Given the description of an element on the screen output the (x, y) to click on. 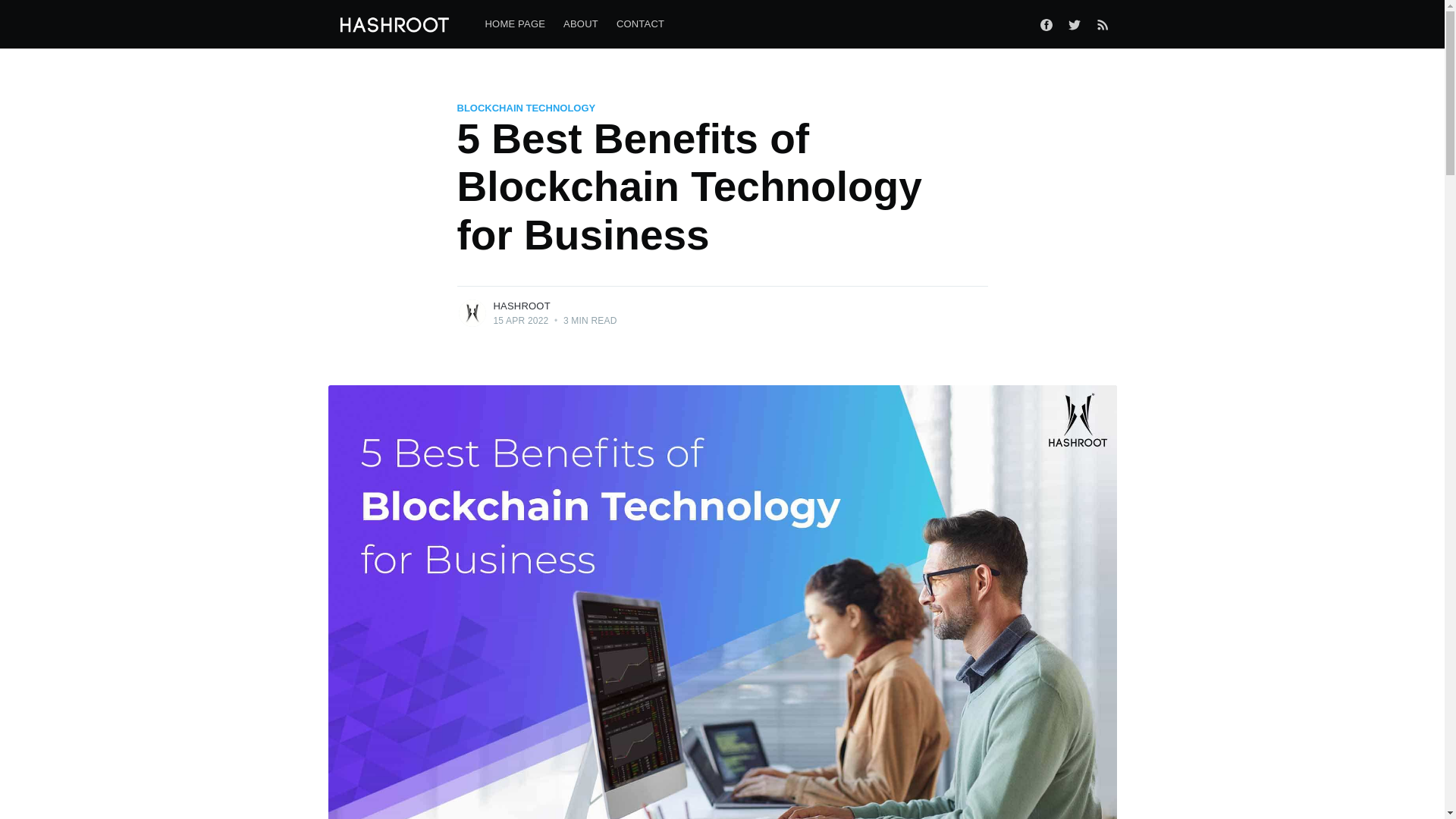
HASHROOT (521, 306)
BLOCKCHAIN TECHNOLOGY (526, 108)
HOME PAGE (515, 24)
Facebook (1045, 23)
ABOUT (580, 24)
RSS (1102, 23)
Twitter (1074, 23)
CONTACT (639, 24)
